Given the description of an element on the screen output the (x, y) to click on. 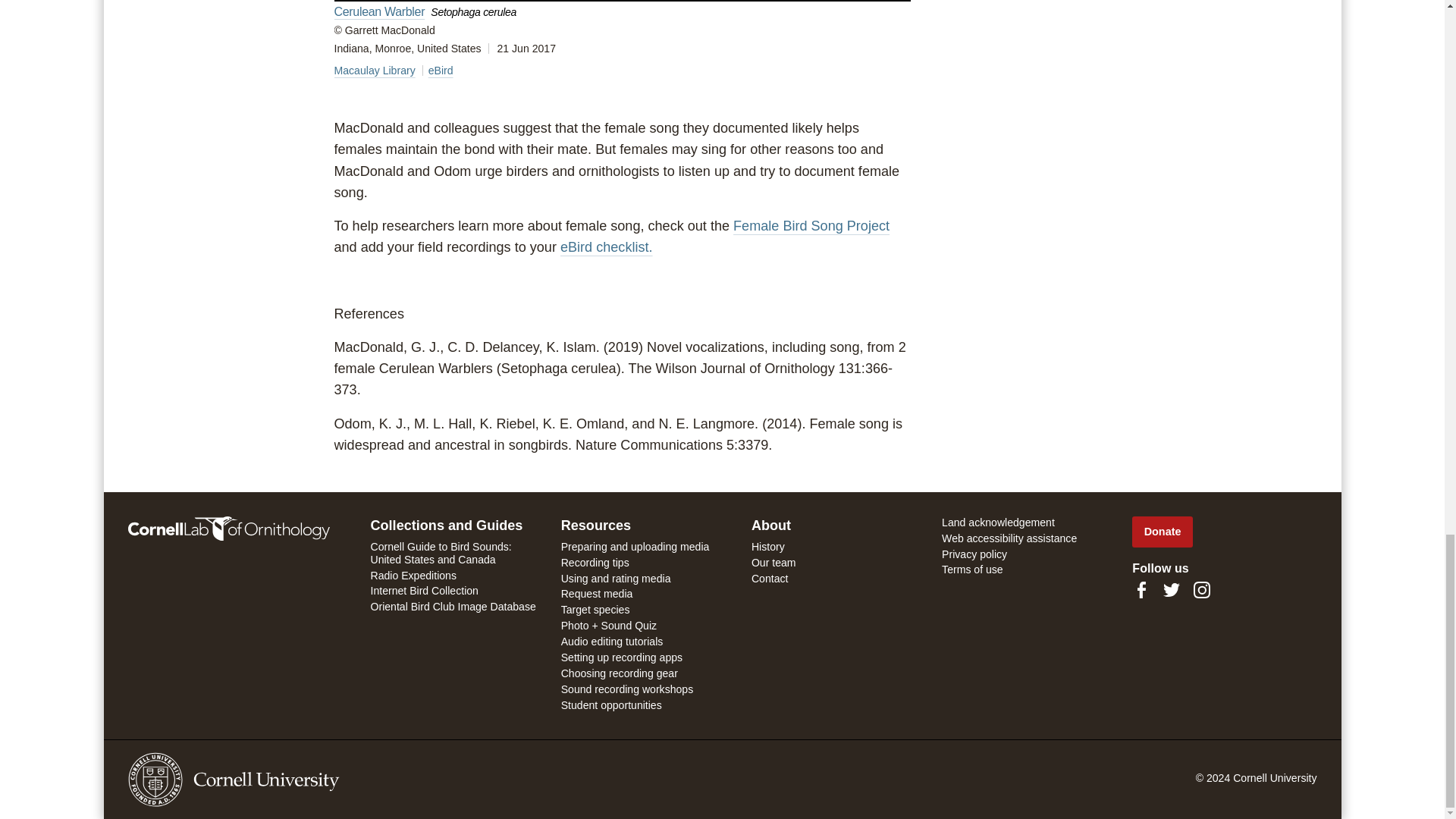
Follow us on Instagram (1201, 589)
eBird (440, 70)
Follow us on Twitter (1170, 589)
Find us on Facebook (1141, 589)
Cerulean Warbler (379, 11)
Female Bird Song Project (811, 225)
Macaulay Library (373, 70)
